Given the description of an element on the screen output the (x, y) to click on. 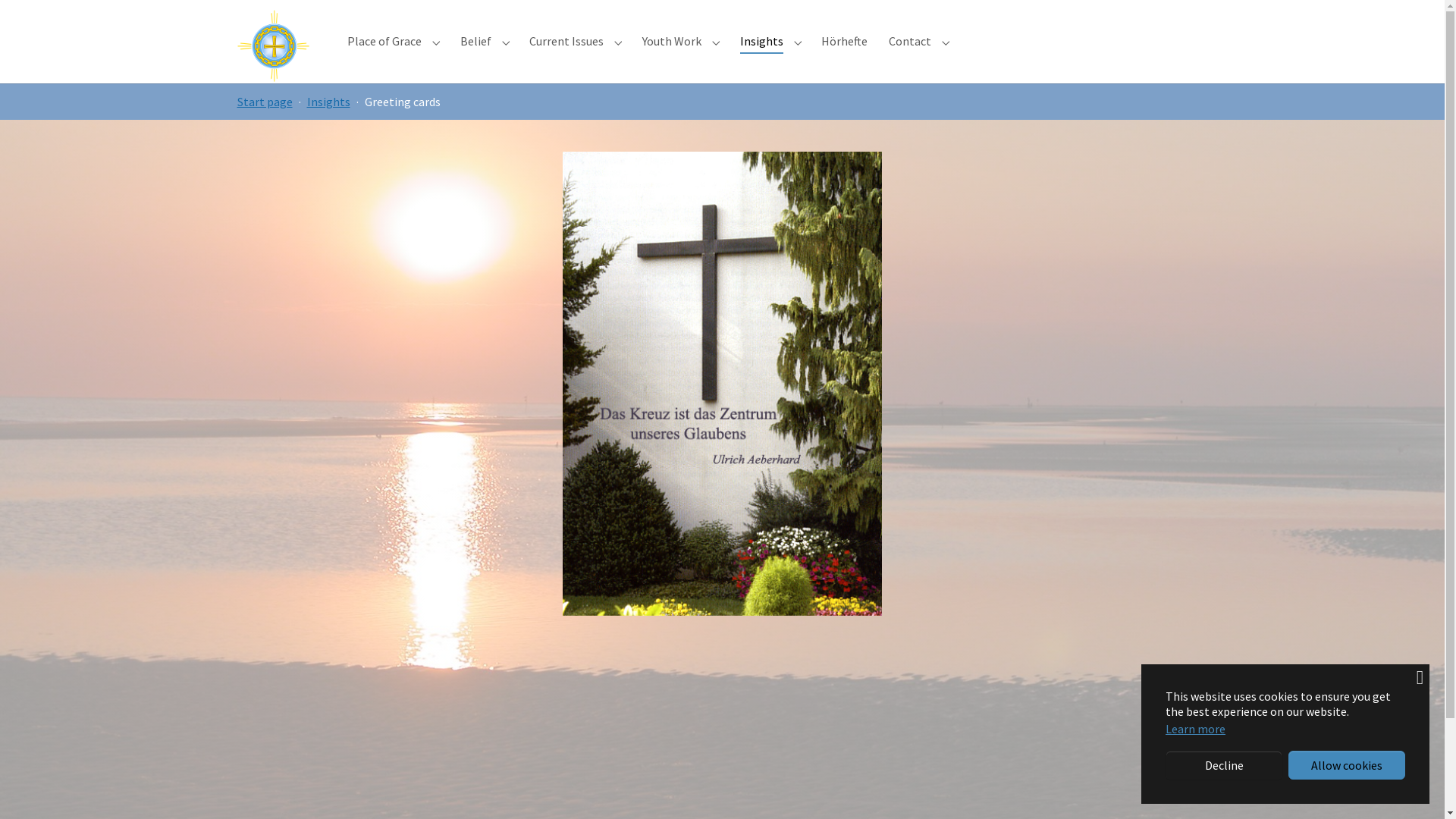
Decline Element type: text (1223, 764)
Submenu for "Contact" Element type: text (945, 41)
Submenu for "Insights" Element type: text (797, 41)
Current Issues Element type: text (566, 41)
Youth Work Element type: text (671, 41)
Learn more Element type: text (1195, 728)
Benedicite Element type: hover (276, 41)
Show larger version Element type: text (721, 484)
Submenu for "Youth Work" Element type: text (715, 41)
Submenu for "Place of Grace" Element type: text (436, 41)
Start page Element type: text (263, 101)
Insights Element type: text (327, 101)
Belief Element type: text (475, 41)
Contact Element type: text (909, 41)
Submenu for "Current Issues" Element type: text (618, 41)
Submenu for "Belief" Element type: text (505, 41)
Show larger version Element type: text (1047, 271)
Allow cookies Element type: text (1346, 764)
Show larger version Element type: text (395, 479)
Place of Grace Element type: text (384, 41)
Insights Element type: text (761, 41)
